Given the description of an element on the screen output the (x, y) to click on. 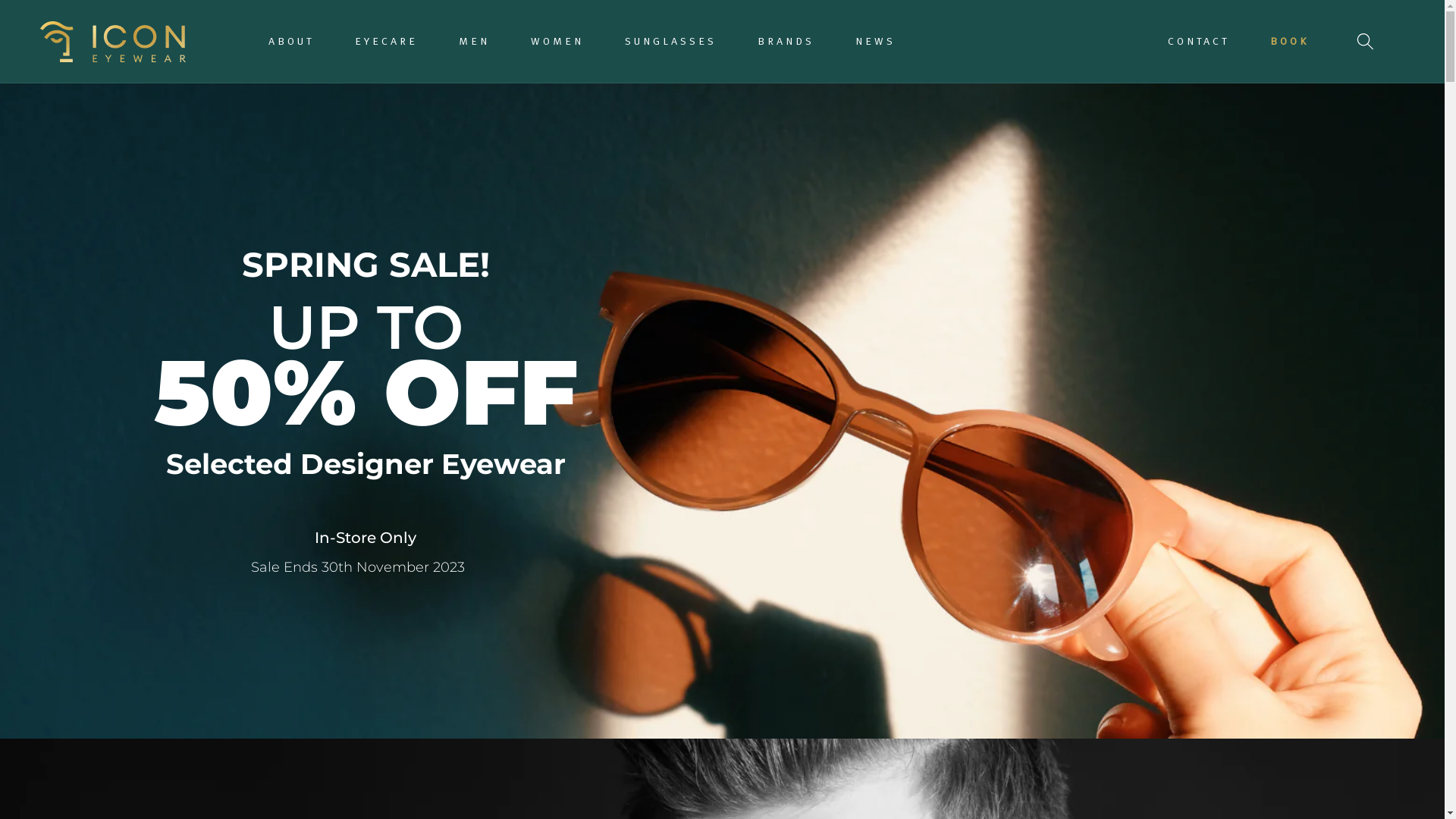
BRANDS Element type: text (785, 40)
ABOUT Element type: text (291, 40)
CONTACT Element type: text (1198, 40)
SUNGLASSES Element type: text (670, 40)
MEN Element type: text (473, 40)
WOMEN Element type: text (557, 40)
EYECARE Element type: text (385, 40)
BOOK Element type: text (1289, 40)
NEWS Element type: text (875, 40)
